Given the description of an element on the screen output the (x, y) to click on. 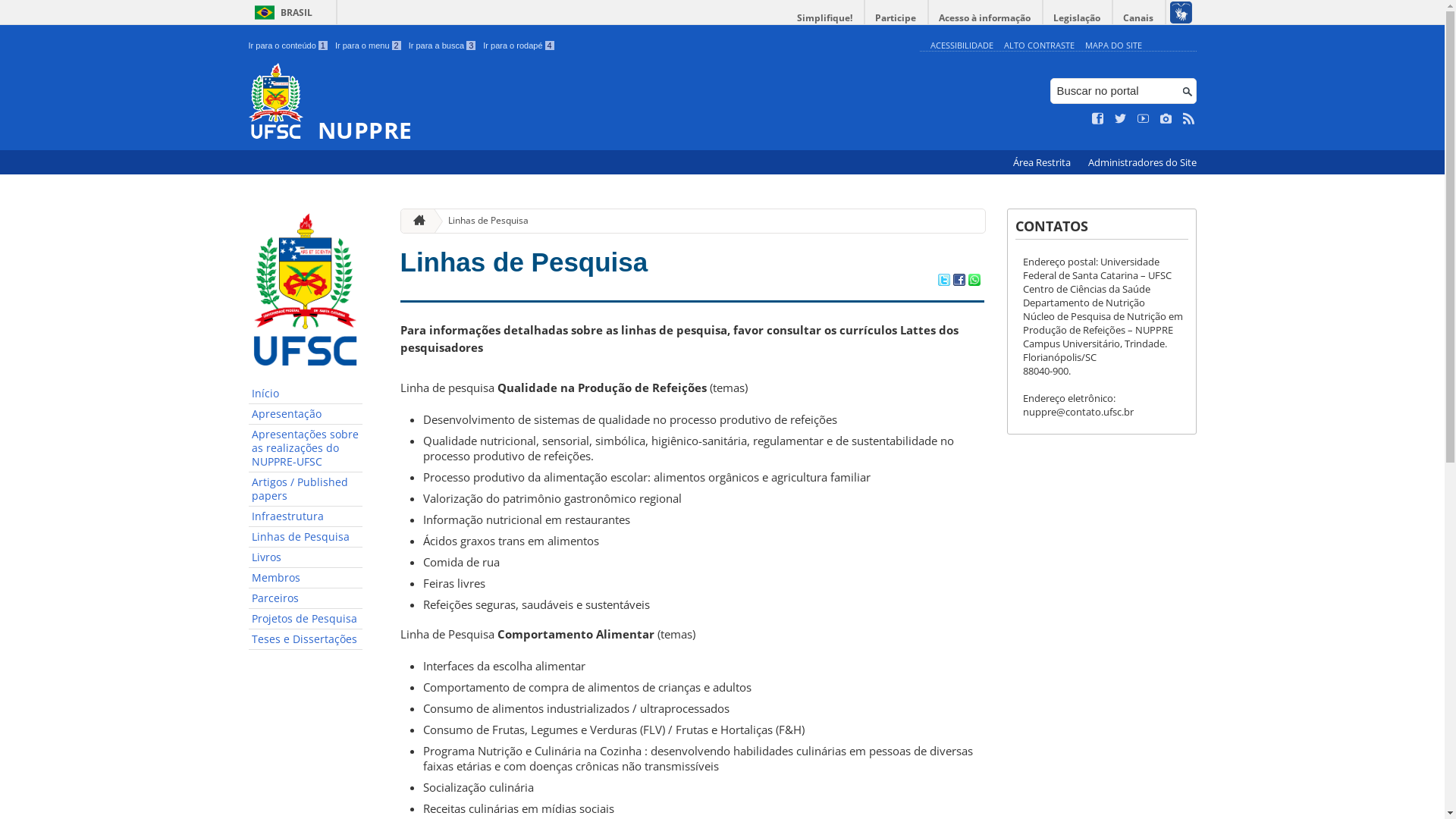
Canais Element type: text (1138, 18)
ACESSIBILIDADE Element type: text (960, 44)
Parceiros Element type: text (305, 598)
Ir para a busca 3 Element type: text (442, 45)
Infraestrutura Element type: text (305, 516)
Projetos de Pesquisa Element type: text (305, 618)
NUPPRE Element type: text (580, 102)
Linhas de Pesquisa Element type: text (481, 220)
Compartilhar no WhatsApp Element type: hover (973, 280)
Linhas de Pesquisa Element type: text (524, 261)
ALTO CONTRASTE Element type: text (1039, 44)
Administradores do Site Element type: text (1141, 162)
Siga no Twitter Element type: hover (1120, 118)
Membros Element type: text (305, 577)
MAPA DO SITE Element type: text (1112, 44)
Compartilhar no Twitter Element type: hover (943, 280)
Artigos / Published papers Element type: text (305, 489)
Compartilhar no Facebook Element type: hover (958, 280)
Curta no Facebook Element type: hover (1098, 118)
Ir para o menu 2 Element type: text (368, 45)
Linhas de Pesquisa Element type: text (305, 537)
Veja no Instagram Element type: hover (1166, 118)
Participe Element type: text (895, 18)
Simplifique! Element type: text (825, 18)
BRASIL Element type: text (280, 12)
Livros Element type: text (305, 557)
